Given the description of an element on the screen output the (x, y) to click on. 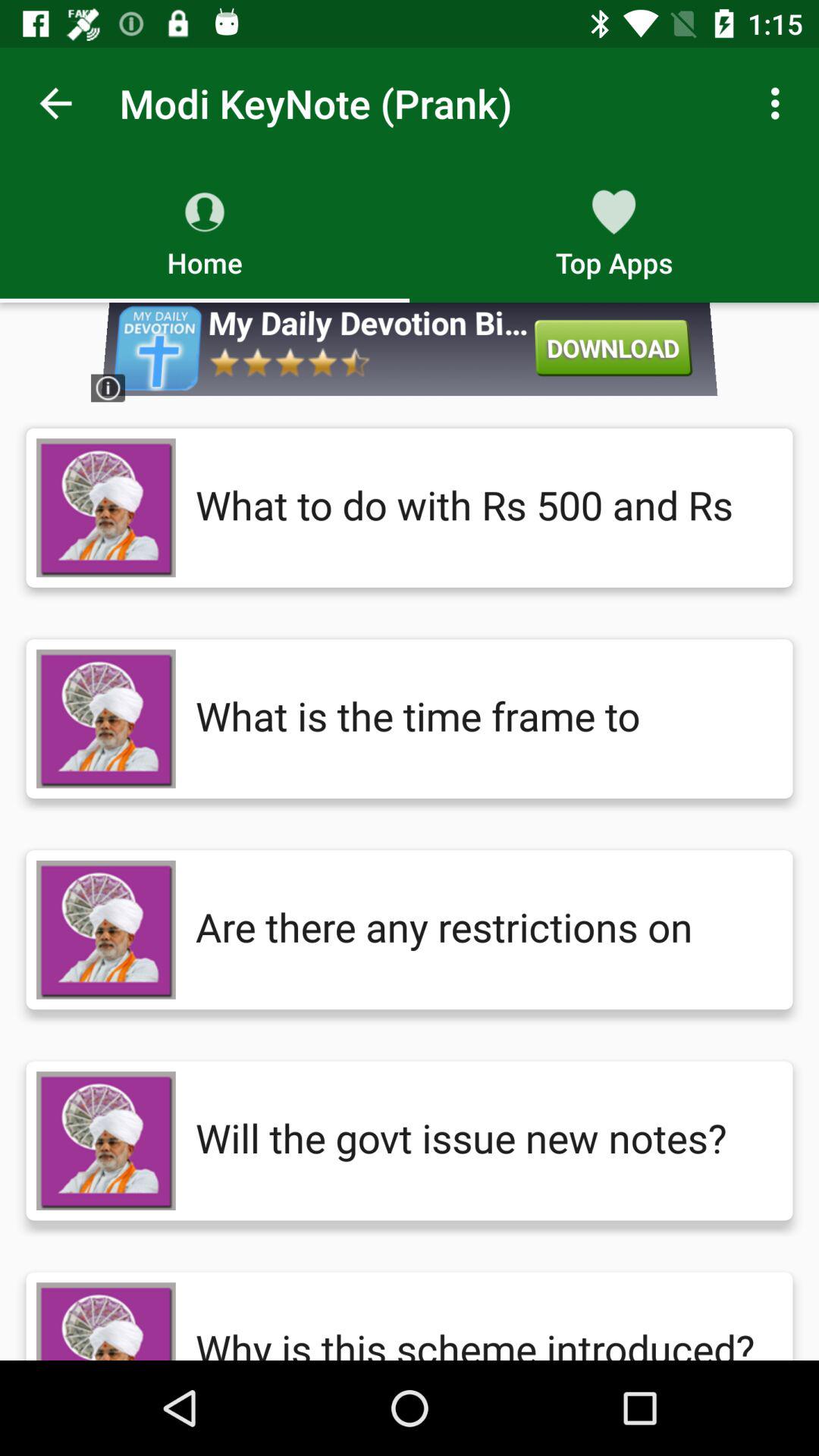
swipe until what is the (478, 718)
